Given the description of an element on the screen output the (x, y) to click on. 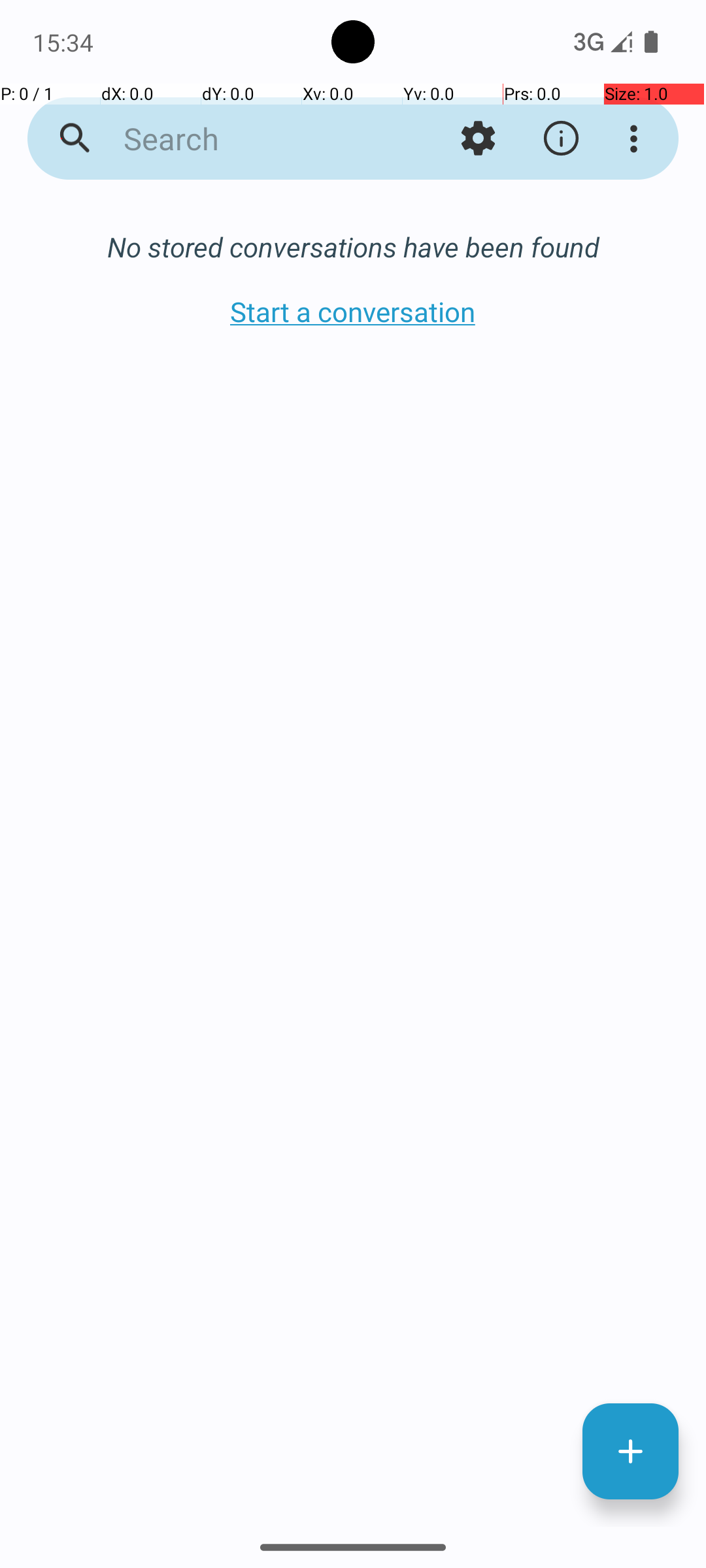
No stored conversations have been found Element type: android.widget.TextView (353, 246)
Start a conversation Element type: android.widget.TextView (352, 311)
